Given the description of an element on the screen output the (x, y) to click on. 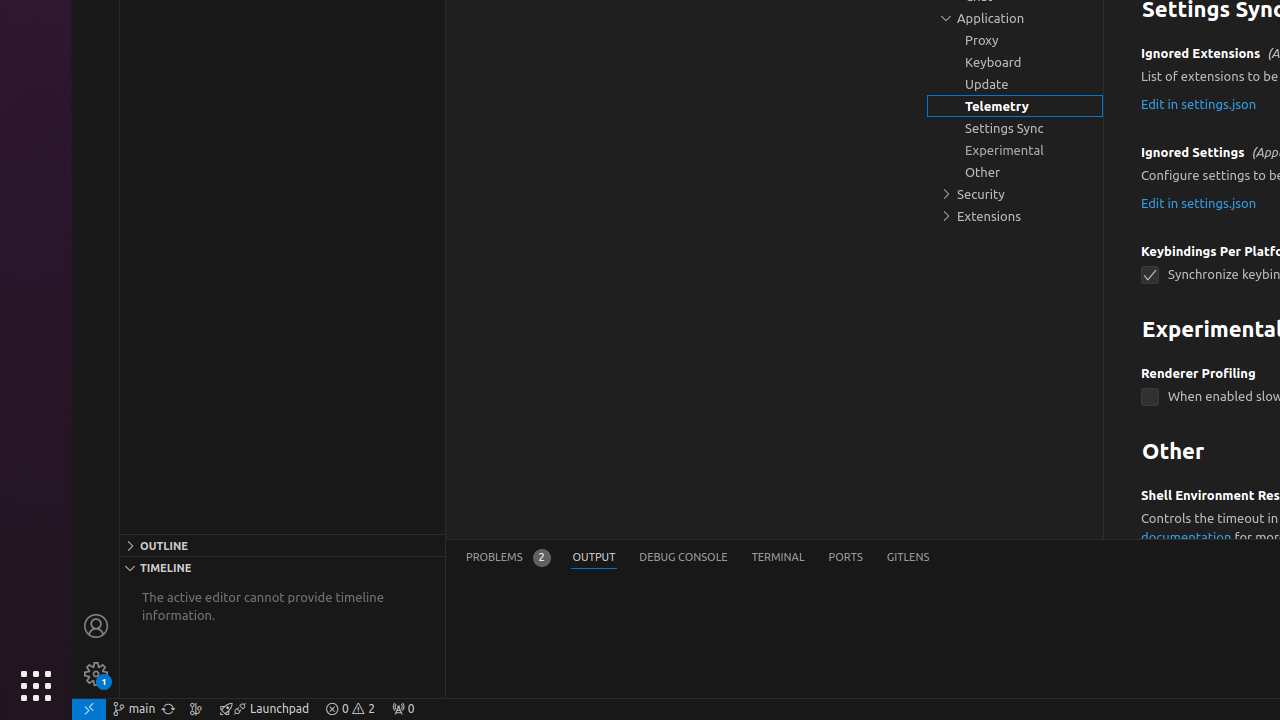
Debug Console (Ctrl+Shift+Y) Element type: page-tab (683, 557)
Outline Section Element type: push-button (282, 545)
application.experimental.rendererProfiling Element type: check-box (1150, 397)
OSWorld (Git) - Synchronize Changes Element type: push-button (168, 709)
No Ports Forwarded Element type: push-button (403, 709)
